Given the description of an element on the screen output the (x, y) to click on. 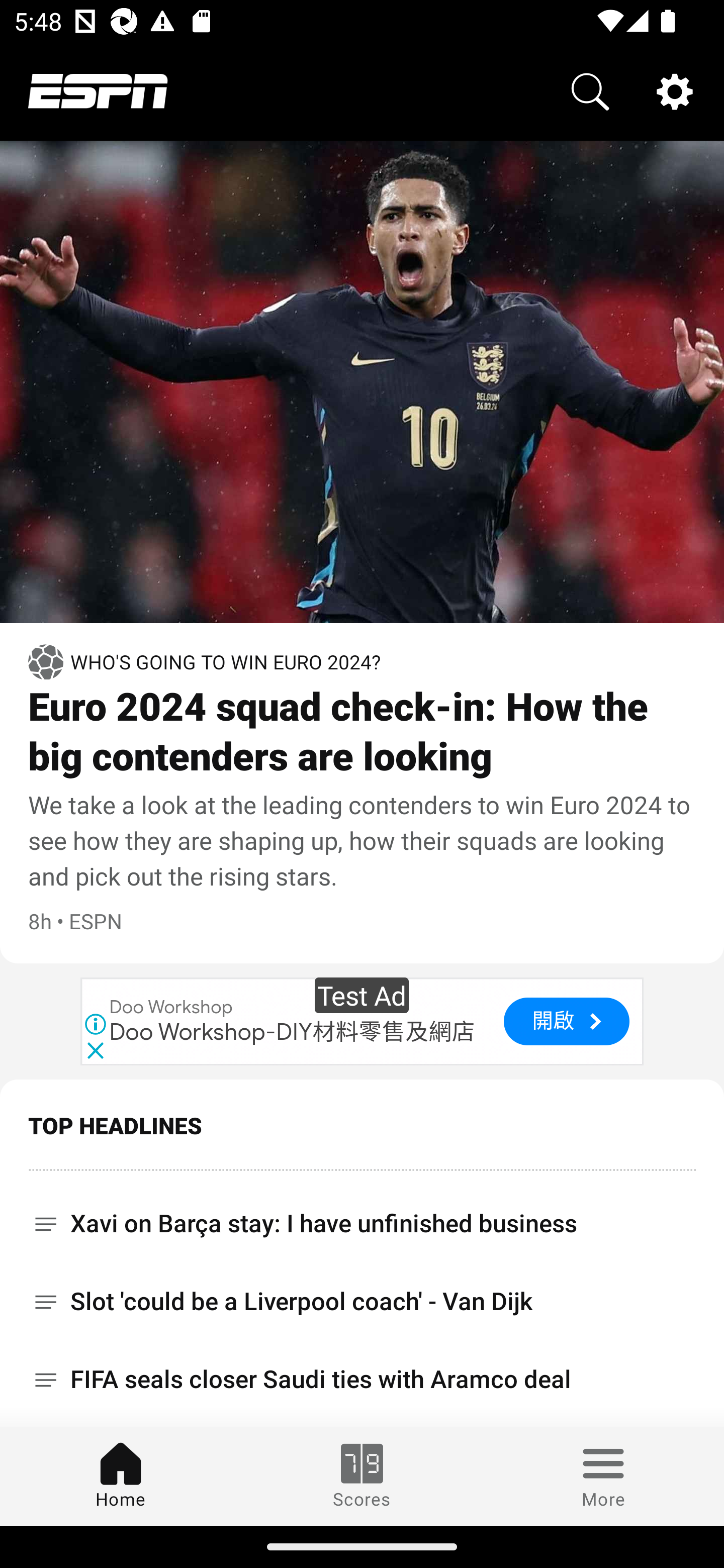
Search (590, 90)
Settings (674, 90)
 Xavi on Barça stay: I have unfinished business (362, 1216)
 Slot 'could be a Liverpool coach' - Van Dijk (362, 1301)
 FIFA seals closer Saudi ties with Aramco deal (362, 1379)
Scores (361, 1475)
More (603, 1475)
